Given the description of an element on the screen output the (x, y) to click on. 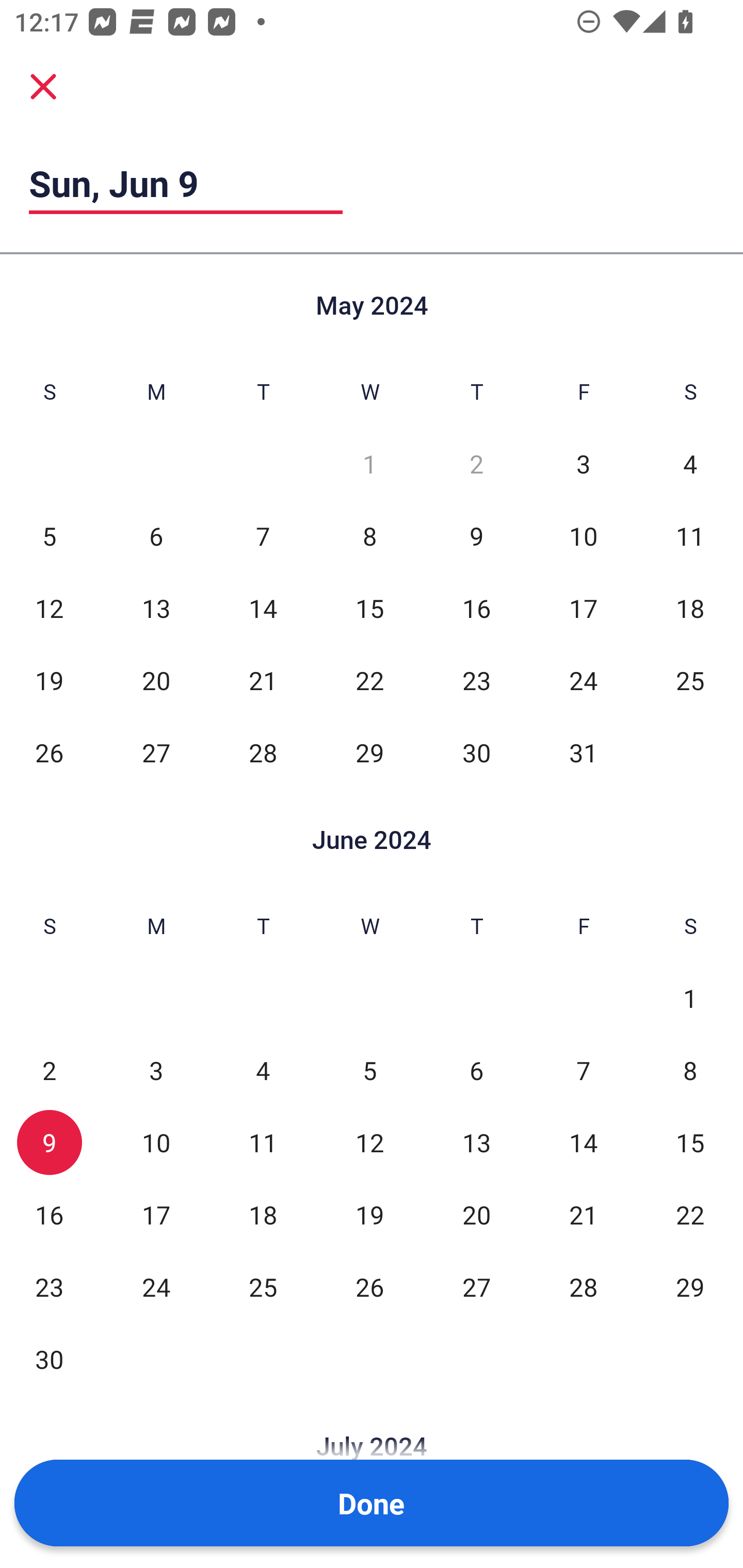
Cancel (43, 86)
Sun, Jun 9 (185, 182)
1 Wed, May 1, Not Selected (369, 464)
2 Thu, May 2, Not Selected (476, 464)
3 Fri, May 3, Not Selected (583, 464)
4 Sat, May 4, Not Selected (690, 464)
5 Sun, May 5, Not Selected (49, 536)
6 Mon, May 6, Not Selected (156, 536)
7 Tue, May 7, Not Selected (263, 536)
8 Wed, May 8, Not Selected (369, 536)
9 Thu, May 9, Not Selected (476, 536)
10 Fri, May 10, Not Selected (583, 536)
11 Sat, May 11, Not Selected (690, 536)
12 Sun, May 12, Not Selected (49, 608)
13 Mon, May 13, Not Selected (156, 608)
14 Tue, May 14, Not Selected (263, 608)
15 Wed, May 15, Not Selected (369, 608)
16 Thu, May 16, Not Selected (476, 608)
17 Fri, May 17, Not Selected (583, 608)
18 Sat, May 18, Not Selected (690, 608)
19 Sun, May 19, Not Selected (49, 680)
20 Mon, May 20, Not Selected (156, 680)
21 Tue, May 21, Not Selected (263, 680)
22 Wed, May 22, Not Selected (369, 680)
23 Thu, May 23, Not Selected (476, 680)
24 Fri, May 24, Not Selected (583, 680)
25 Sat, May 25, Not Selected (690, 680)
26 Sun, May 26, Not Selected (49, 752)
27 Mon, May 27, Not Selected (156, 752)
28 Tue, May 28, Not Selected (263, 752)
29 Wed, May 29, Not Selected (369, 752)
30 Thu, May 30, Not Selected (476, 752)
31 Fri, May 31, Not Selected (583, 752)
1 Sat, Jun 1, Not Selected (690, 997)
2 Sun, Jun 2, Not Selected (49, 1070)
3 Mon, Jun 3, Not Selected (156, 1070)
4 Tue, Jun 4, Not Selected (263, 1070)
5 Wed, Jun 5, Not Selected (369, 1070)
6 Thu, Jun 6, Not Selected (476, 1070)
7 Fri, Jun 7, Not Selected (583, 1070)
8 Sat, Jun 8, Not Selected (690, 1070)
9 Sun, Jun 9, Selected (49, 1143)
10 Mon, Jun 10, Not Selected (156, 1143)
11 Tue, Jun 11, Not Selected (263, 1143)
12 Wed, Jun 12, Not Selected (369, 1143)
13 Thu, Jun 13, Not Selected (476, 1143)
14 Fri, Jun 14, Not Selected (583, 1143)
15 Sat, Jun 15, Not Selected (690, 1143)
16 Sun, Jun 16, Not Selected (49, 1215)
17 Mon, Jun 17, Not Selected (156, 1215)
